Given the description of an element on the screen output the (x, y) to click on. 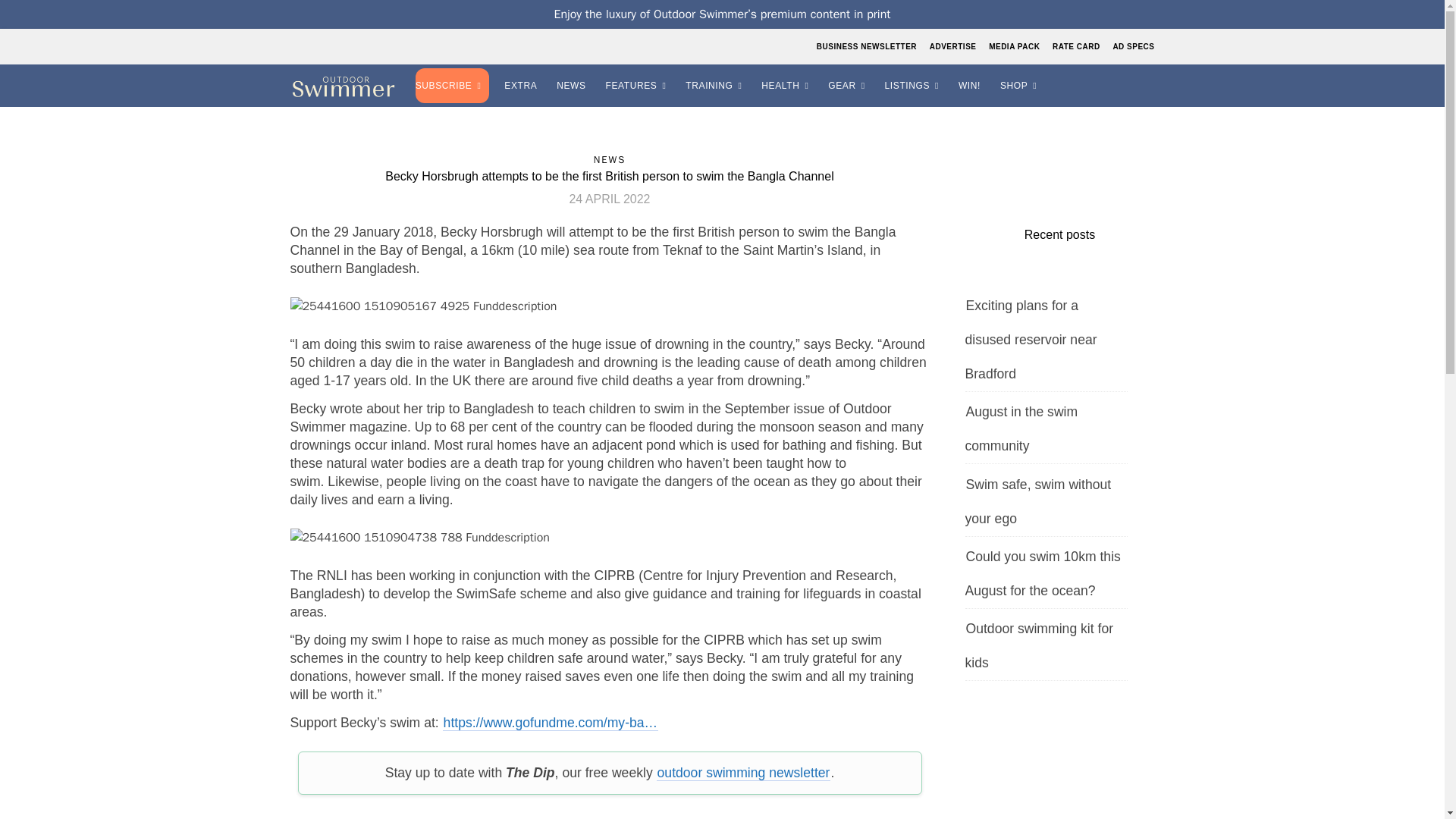
BUSINESS NEWSLETTER (868, 46)
Outdoor Swimmer Magazine (342, 85)
TRAINING (716, 85)
SUBSCRIBE (453, 85)
AD SPECS (1131, 46)
RATE CARD (1075, 46)
NEWS (572, 85)
MEDIA PACK (1014, 46)
FEATURES (638, 85)
EXTRA (522, 85)
ADVERTISE (952, 46)
